Given the description of an element on the screen output the (x, y) to click on. 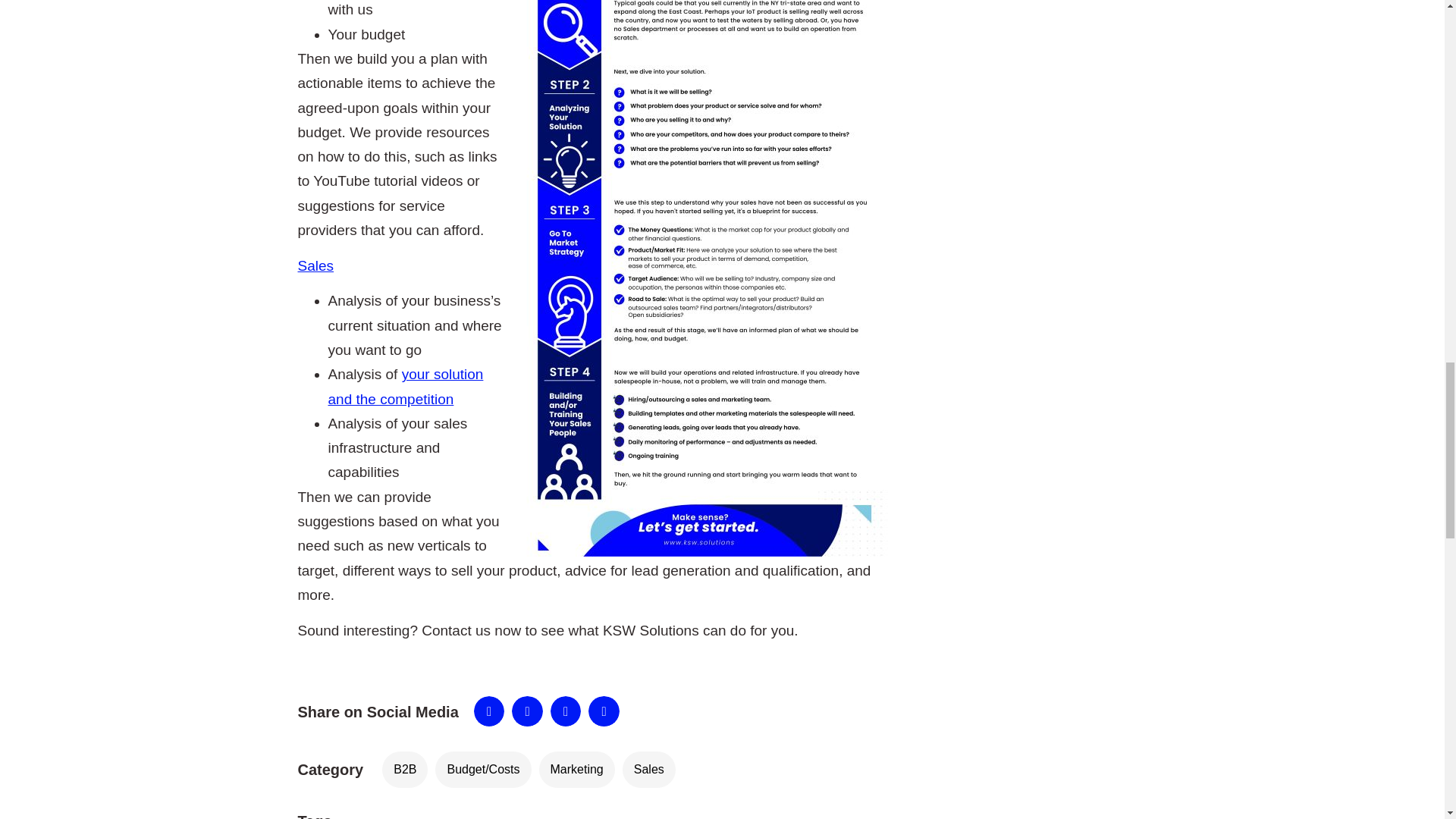
Sales (649, 769)
Sales (315, 265)
your solution and the competition (405, 386)
B2B (404, 769)
Marketing (576, 769)
